Given the description of an element on the screen output the (x, y) to click on. 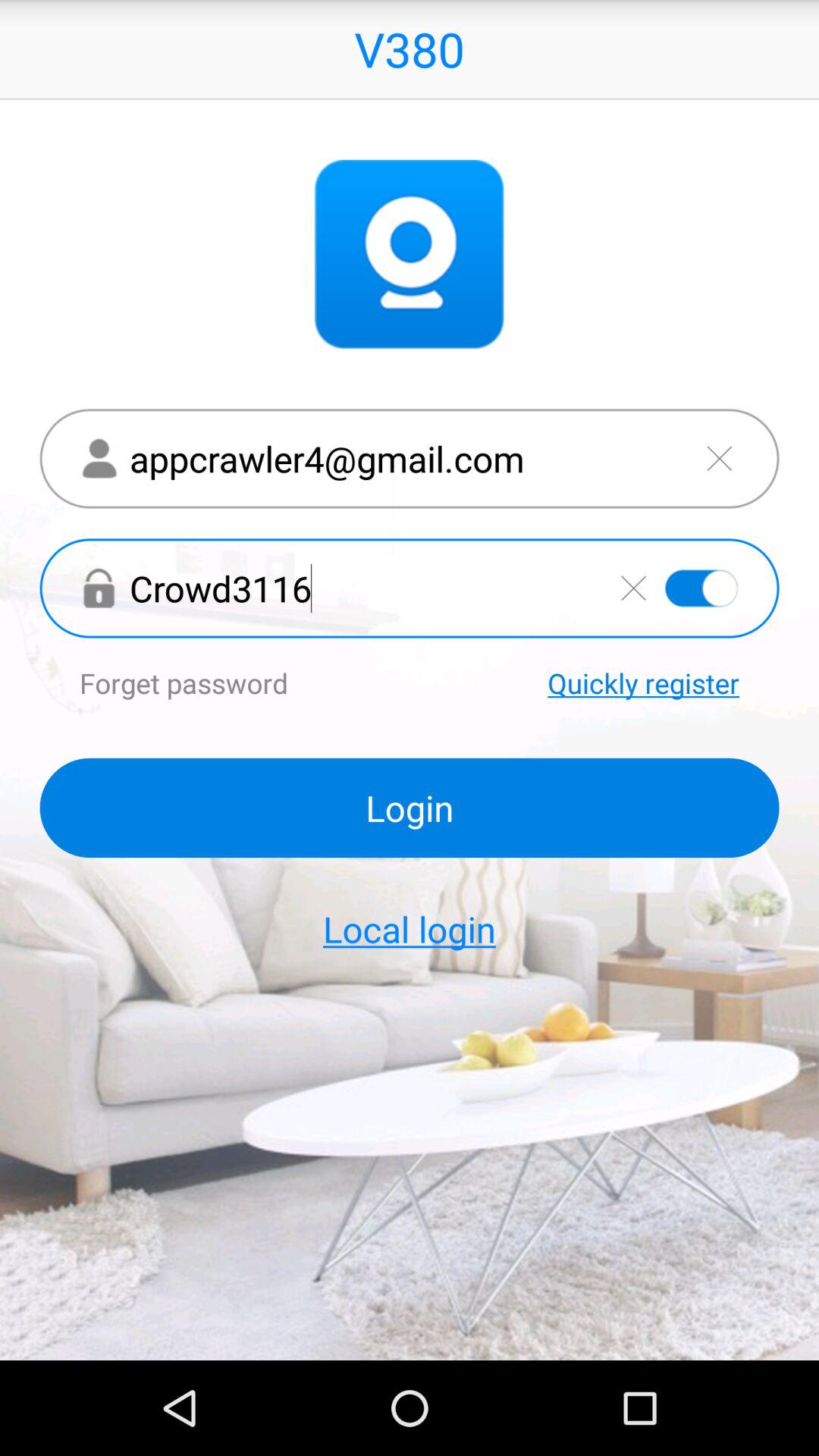
switch show/do n't show (701, 587)
